Given the description of an element on the screen output the (x, y) to click on. 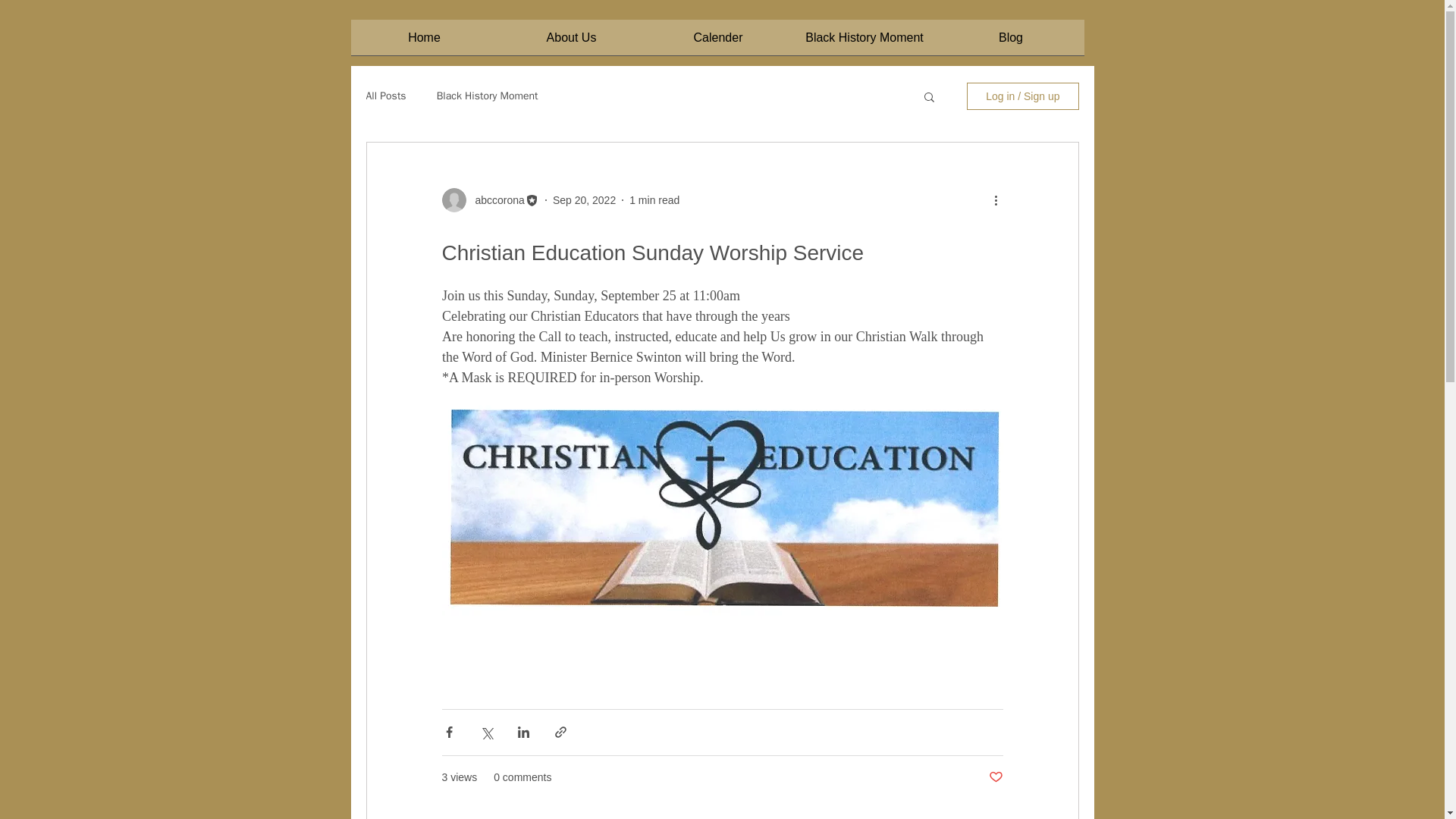
All Posts (385, 96)
Blog (1010, 42)
Sep 20, 2022 (584, 200)
1 min read (653, 200)
Black History Moment (487, 96)
abccorona (494, 200)
Black History Moment (864, 42)
Calender (717, 42)
Home (423, 42)
About Us (571, 42)
